Given the description of an element on the screen output the (x, y) to click on. 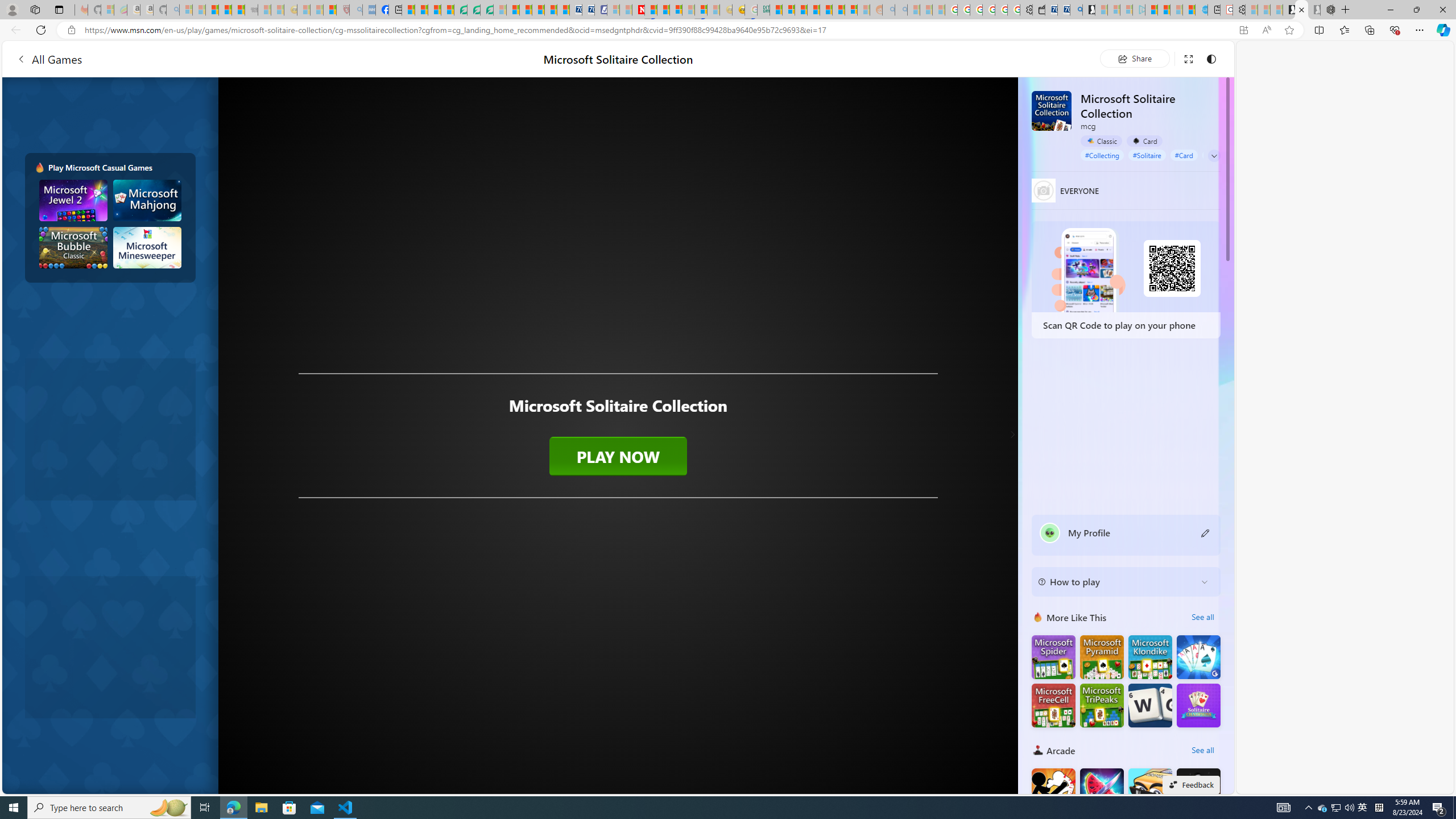
Card (1143, 140)
Microsoft FreeCell Solitaire (1053, 705)
Microsoft Minesweeper (147, 247)
EVERYONE (1043, 190)
Cheap Hotels - Save70.com (587, 9)
All Games (49, 58)
